Given the description of an element on the screen output the (x, y) to click on. 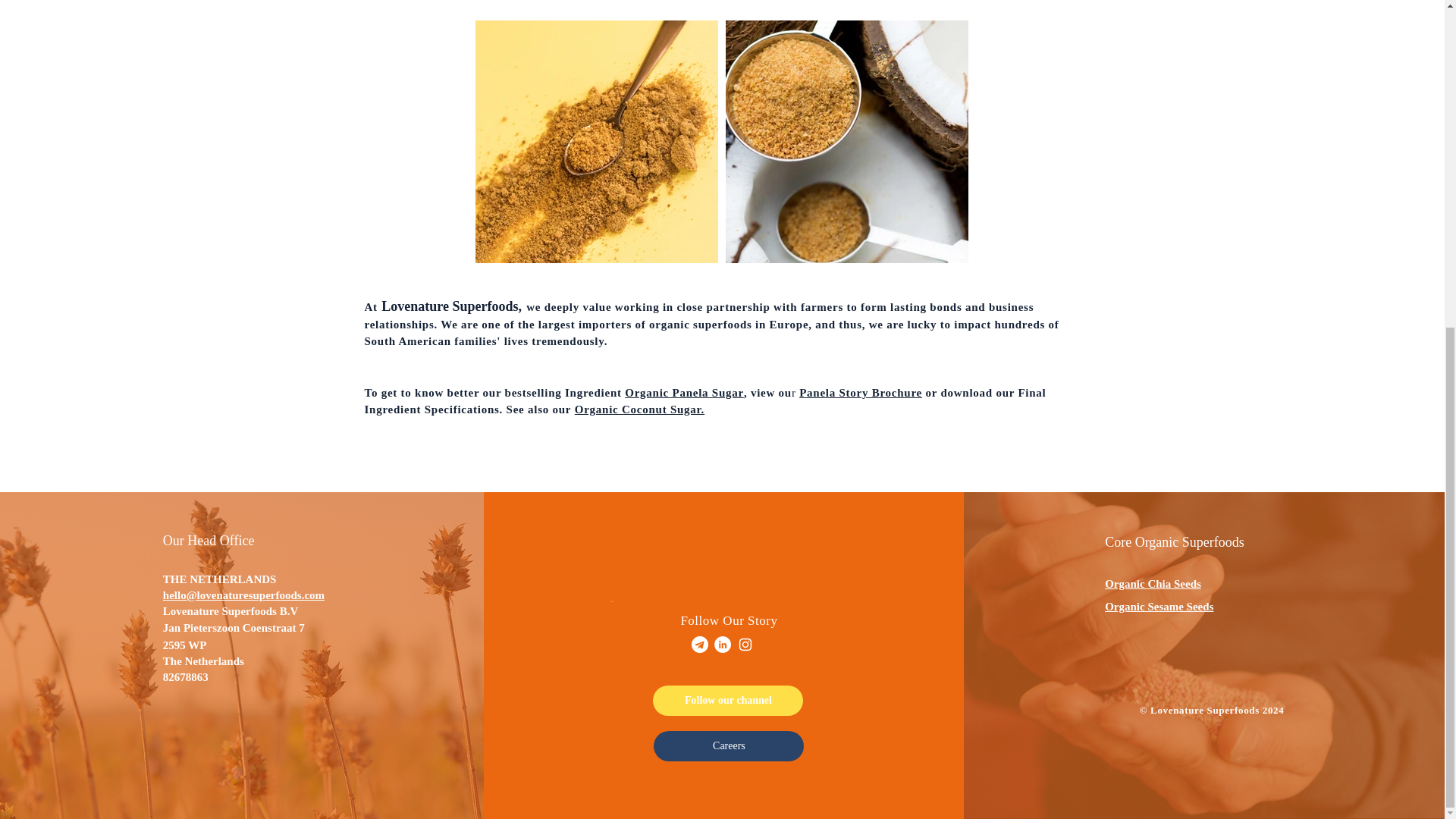
Organic Coconut Sugar. (639, 409)
Organic Sesame Seeds (1158, 606)
Organic Chia Seeds (1153, 583)
Organic Panela Sugar (684, 391)
Follow our channel (727, 700)
Panela Story Brochure (860, 391)
